Given the description of an element on the screen output the (x, y) to click on. 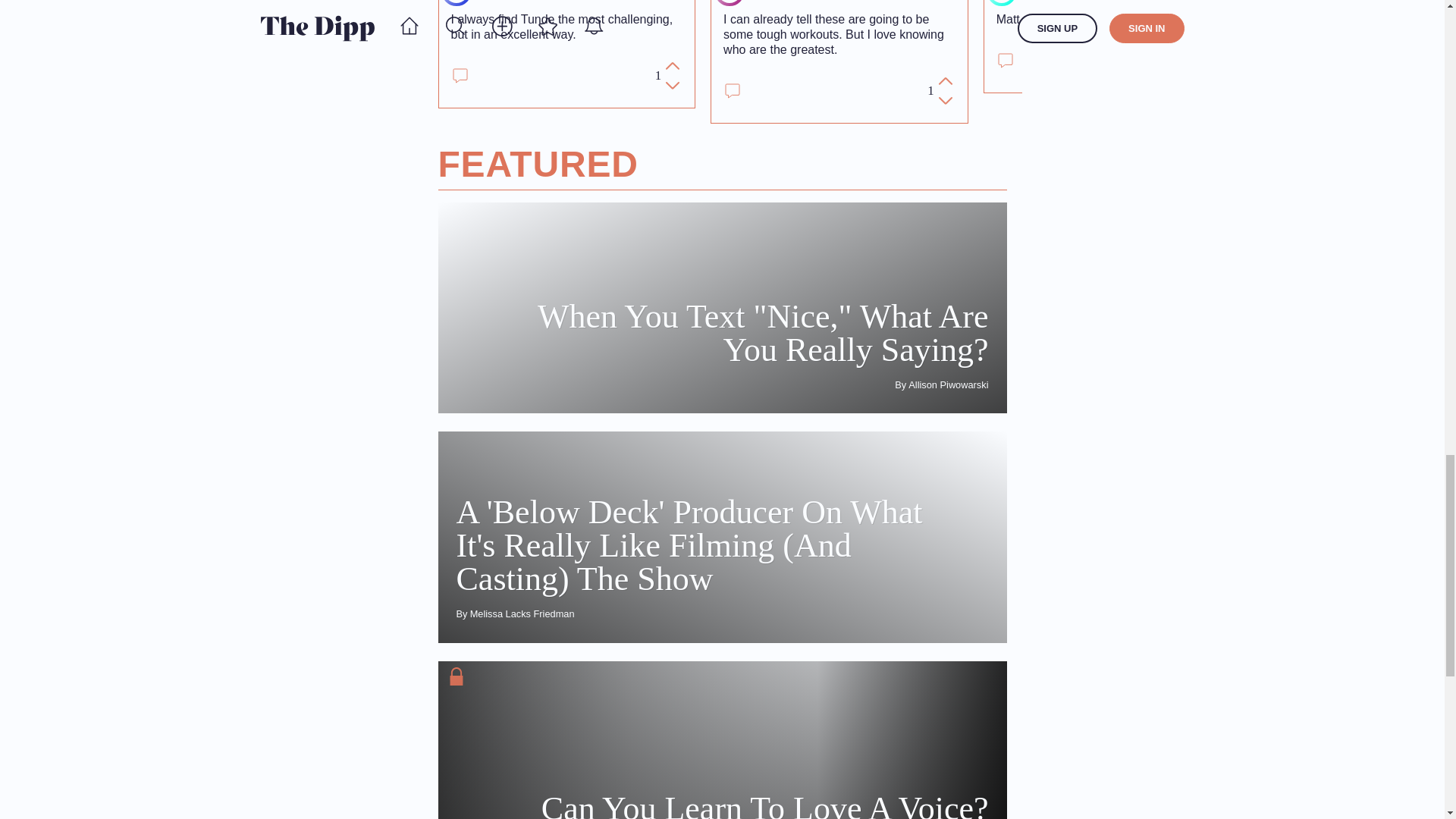
over 2 years ago (568, 2)
hellery (496, 2)
over 2 years ago (846, 2)
J (729, 2)
jasmine (770, 2)
H (456, 2)
O (1001, 2)
